Given the description of an element on the screen output the (x, y) to click on. 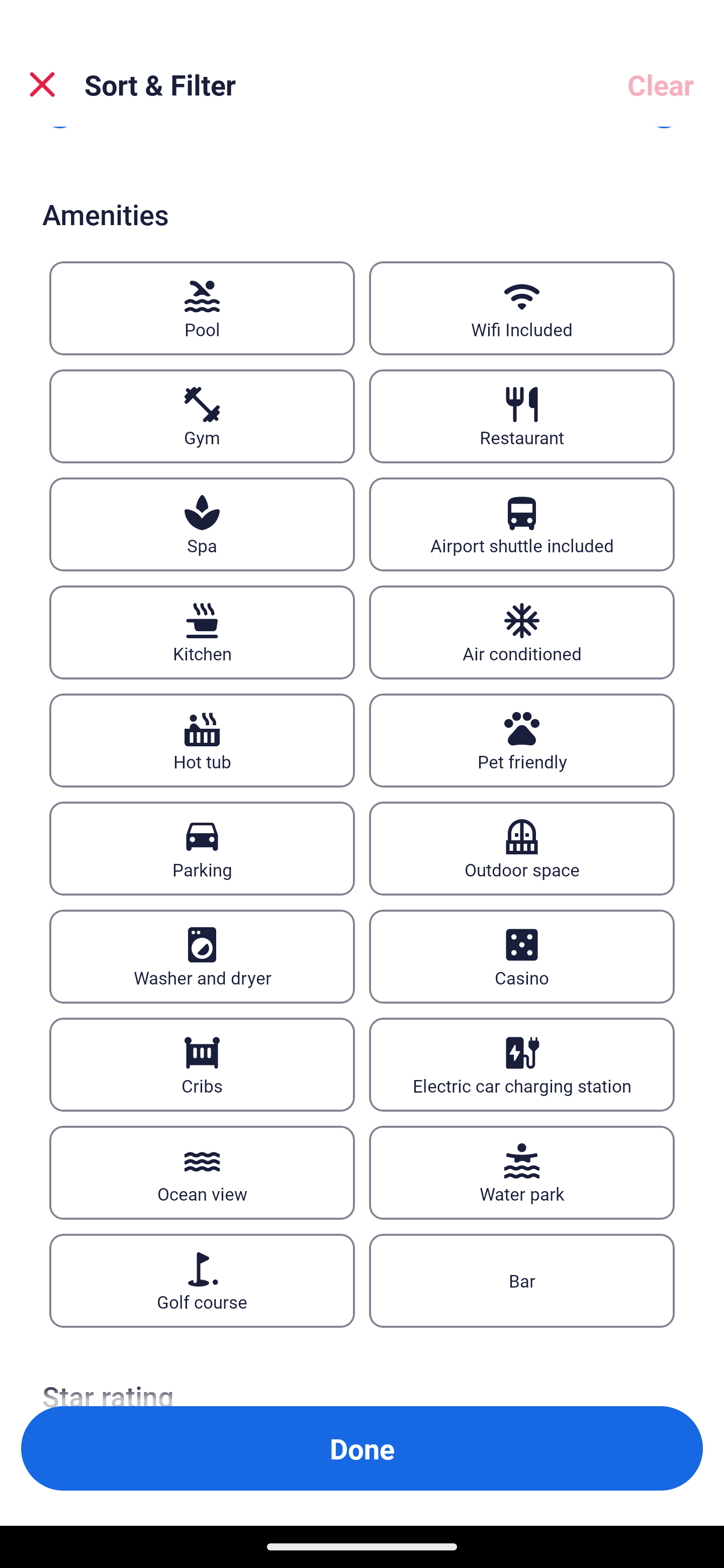
Close Sort and Filter (42, 84)
Clear (660, 84)
Pool (201, 308)
Wifi Included (521, 308)
Gym (201, 417)
Restaurant (521, 417)
Spa (201, 523)
Airport shuttle included (521, 523)
Kitchen (201, 631)
Air conditioned (521, 631)
Hot tub (201, 740)
Pet friendly (521, 740)
Parking (201, 848)
Outdoor space (521, 848)
Washer and dryer (201, 956)
Casino (521, 956)
Cribs (201, 1064)
Electric car charging station (521, 1064)
Ocean view (201, 1172)
Water park (521, 1172)
Golf course (201, 1281)
Bar (521, 1281)
Apply and close Sort and Filter Done (361, 1448)
